Given the description of an element on the screen output the (x, y) to click on. 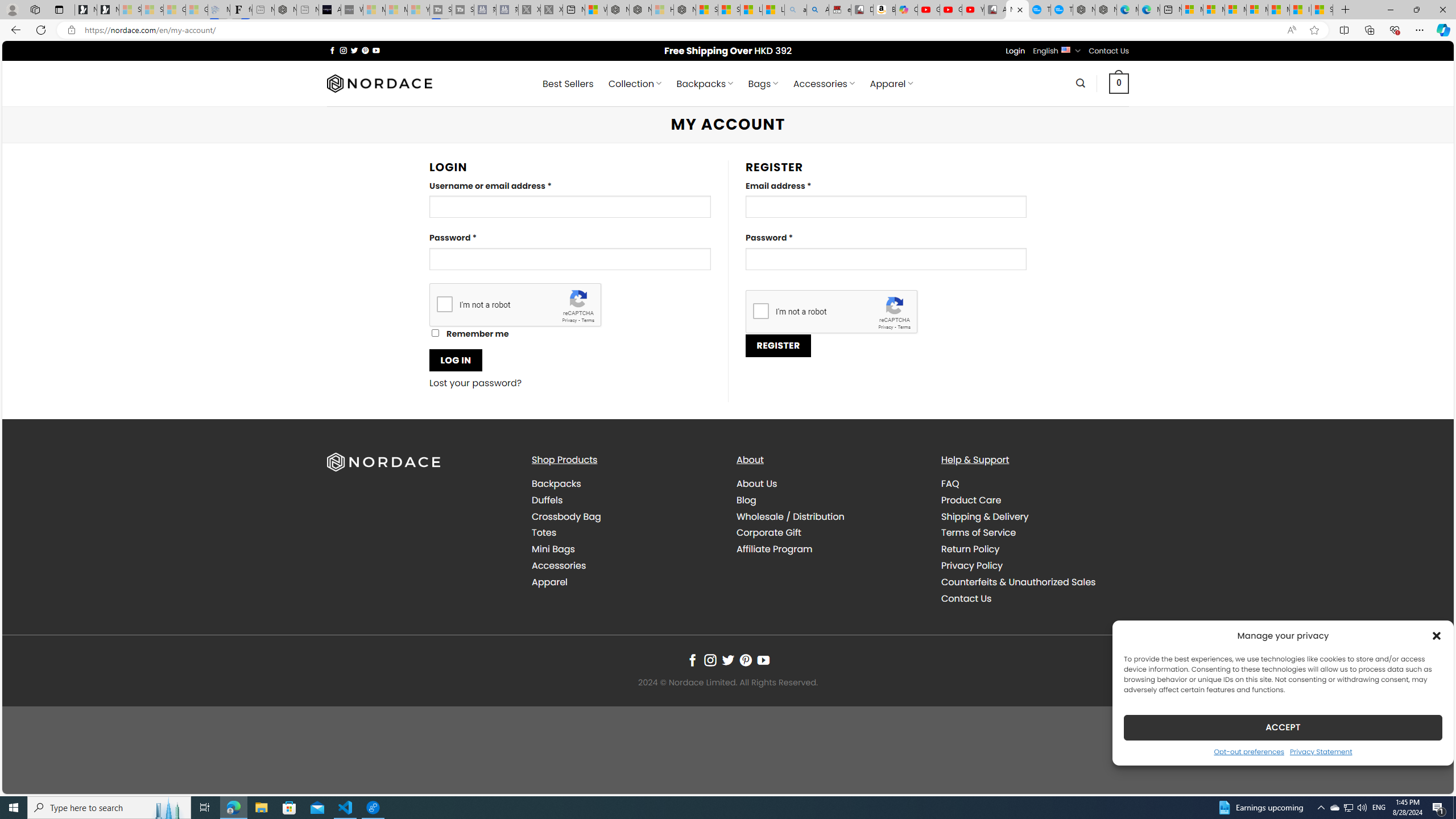
  Best Sellers (568, 83)
Duffels (625, 499)
Shipping & Delivery (984, 516)
Corporate Gift (830, 532)
Blog (830, 499)
Follow on Pinterest (745, 659)
Affiliate Program (830, 549)
